Given the description of an element on the screen output the (x, y) to click on. 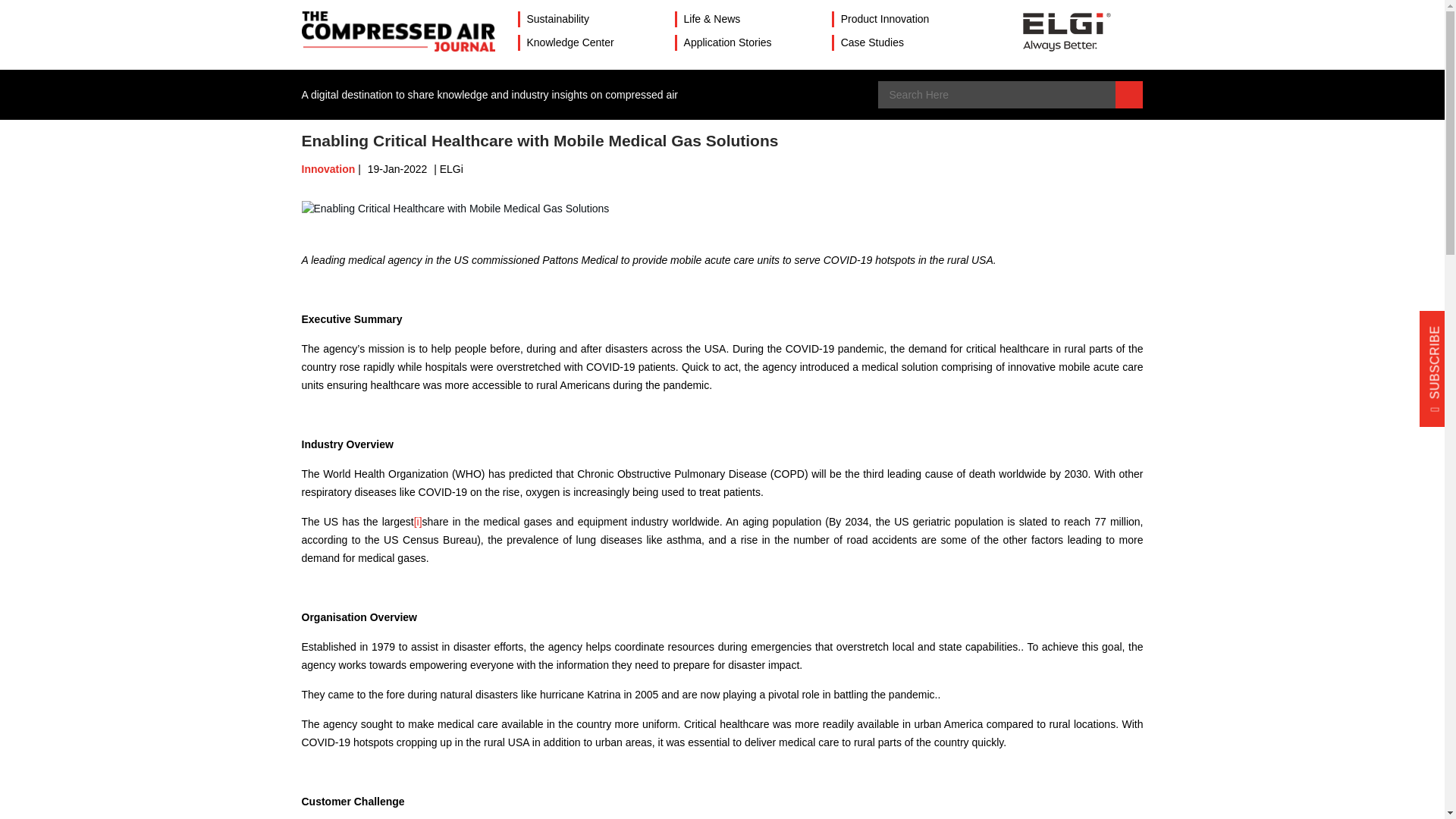
Sustainability (557, 19)
Application Stories (727, 42)
Product Innovation (885, 19)
Search (1128, 94)
Search (1128, 94)
Knowledge Center (568, 42)
Search (1128, 94)
Case Studies (872, 42)
